Given the description of an element on the screen output the (x, y) to click on. 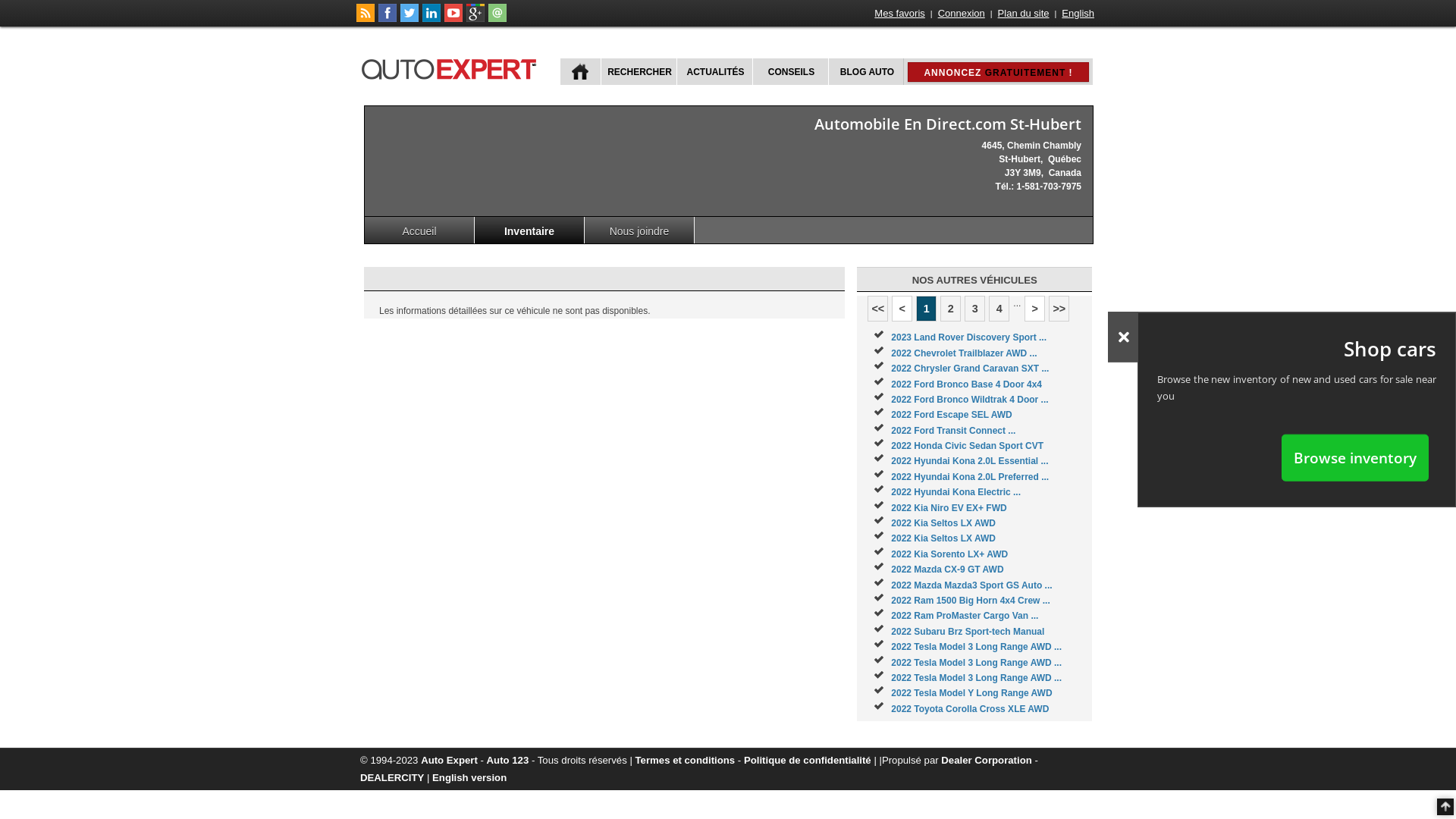
2022 Mazda Mazda3 Sport GS Auto ... Element type: text (971, 585)
DEALERCITY Element type: text (391, 777)
2 Element type: text (950, 308)
Auto Expert Element type: text (448, 759)
>> Element type: text (1058, 308)
English version Element type: text (469, 777)
<< Element type: text (877, 308)
2022 Hyundai Kona Electric ... Element type: text (955, 491)
> Element type: text (1034, 308)
2022 Ford Escape SEL AWD Element type: text (951, 414)
Auto 123 Element type: text (507, 759)
2022 Subaru Brz Sport-tech Manual Element type: text (967, 631)
2022 Toyota Corolla Cross XLE AWD Element type: text (969, 708)
2022 Chrysler Grand Caravan SXT ... Element type: text (969, 368)
< Element type: text (901, 308)
2022 Kia Sorento LX+ AWD Element type: text (949, 554)
2022 Honda Civic Sedan Sport CVT Element type: text (967, 445)
RECHERCHER Element type: text (637, 71)
CONSEILS Element type: text (789, 71)
Nous joindre Element type: text (639, 229)
Suivez autoExpert.ca sur Facebook Element type: hover (387, 18)
autoExpert.ca Element type: text (451, 66)
2022 Tesla Model 3 Long Range AWD ... Element type: text (976, 662)
2022 Hyundai Kona 2.0L Preferred ... Element type: text (969, 476)
2022 Tesla Model 3 Long Range AWD ... Element type: text (976, 677)
2022 Kia Seltos LX AWD Element type: text (943, 522)
2022 Ram ProMaster Cargo Van ... Element type: text (964, 615)
BLOG AUTO Element type: text (865, 71)
2022 Ram 1500 Big Horn 4x4 Crew ... Element type: text (970, 600)
Connexion Element type: text (961, 13)
Suivez Publications Le Guide Inc. sur LinkedIn Element type: hover (431, 18)
Plan du site Element type: text (1023, 13)
2022 Kia Seltos LX AWD Element type: text (943, 538)
Mes favoris Element type: text (898, 13)
2022 Mazda CX-9 GT AWD Element type: text (947, 569)
Suivez autoExpert.ca sur Twitter Element type: hover (409, 18)
Inventaire Element type: text (529, 229)
Joindre autoExpert.ca Element type: hover (497, 18)
ACCUEIL Element type: text (580, 71)
Suivez autoExpert.ca sur Google Plus Element type: hover (475, 18)
2022 Hyundai Kona 2.0L Essential ... Element type: text (969, 460)
2022 Ford Transit Connect ... Element type: text (953, 430)
English Element type: text (1077, 13)
Termes et conditions Element type: text (685, 759)
3 Element type: text (974, 308)
2022 Tesla Model 3 Long Range AWD ... Element type: text (976, 646)
Accueil Element type: text (419, 229)
Dealer Corporation Element type: text (986, 759)
Suivez autoExpert.ca sur Youtube Element type: hover (453, 18)
1 Element type: text (926, 308)
ANNONCEZ GRATUITEMENT ! Element type: text (997, 71)
2022 Kia Niro EV EX+ FWD Element type: text (948, 507)
2022 Chevrolet Trailblazer AWD ... Element type: text (963, 353)
4 Element type: text (998, 308)
2022 Tesla Model Y Long Range AWD Element type: text (971, 692)
2022 Ford Bronco Base 4 Door 4x4 Element type: text (966, 384)
Browse inventory Element type: text (1354, 457)
2022 Ford Bronco Wildtrak 4 Door ... Element type: text (969, 399)
2023 Land Rover Discovery Sport ... Element type: text (968, 337)
